Given the description of an element on the screen output the (x, y) to click on. 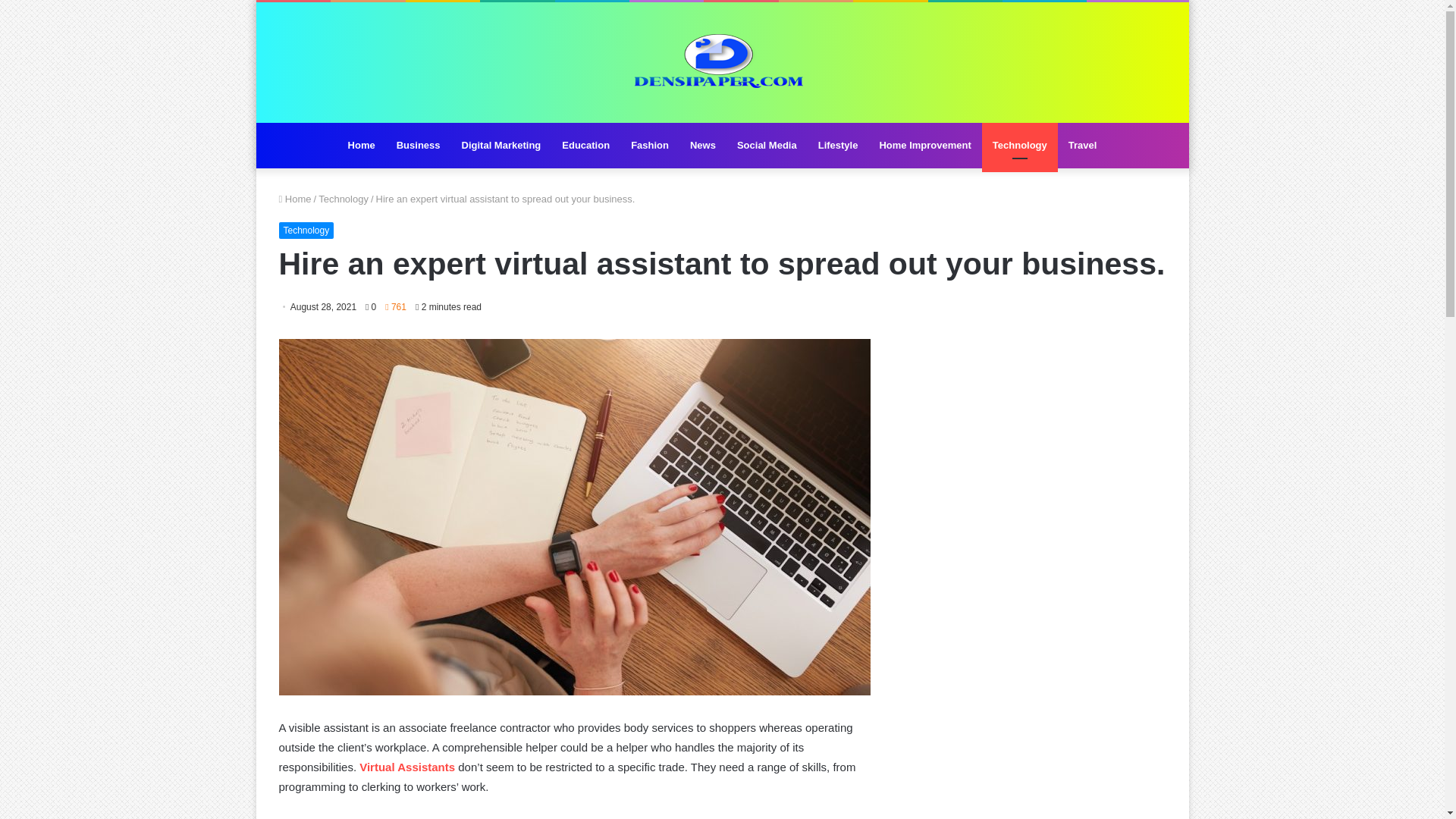
Travel (1083, 145)
Technology (306, 230)
Digital Marketing (501, 145)
Technology (343, 198)
Education (585, 145)
Home (295, 198)
Technology (1019, 145)
Virtual Assistants (406, 766)
Social Media (767, 145)
Business (418, 145)
Home Improvement (924, 145)
Lifestyle (838, 145)
News (702, 145)
Fashion (649, 145)
Home (361, 145)
